Given the description of an element on the screen output the (x, y) to click on. 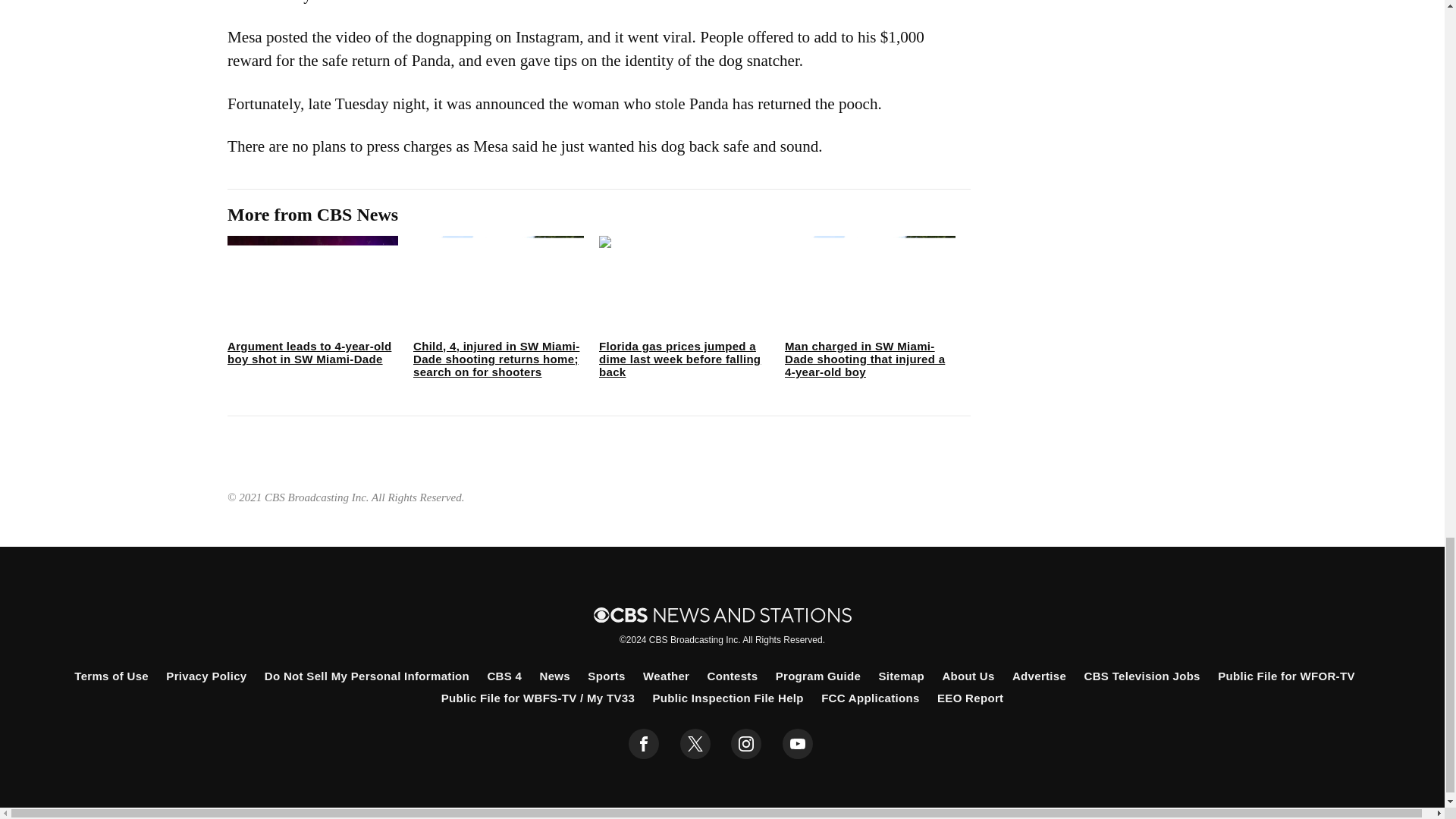
twitter (694, 743)
facebook (643, 743)
youtube (797, 743)
instagram (745, 743)
